Given the description of an element on the screen output the (x, y) to click on. 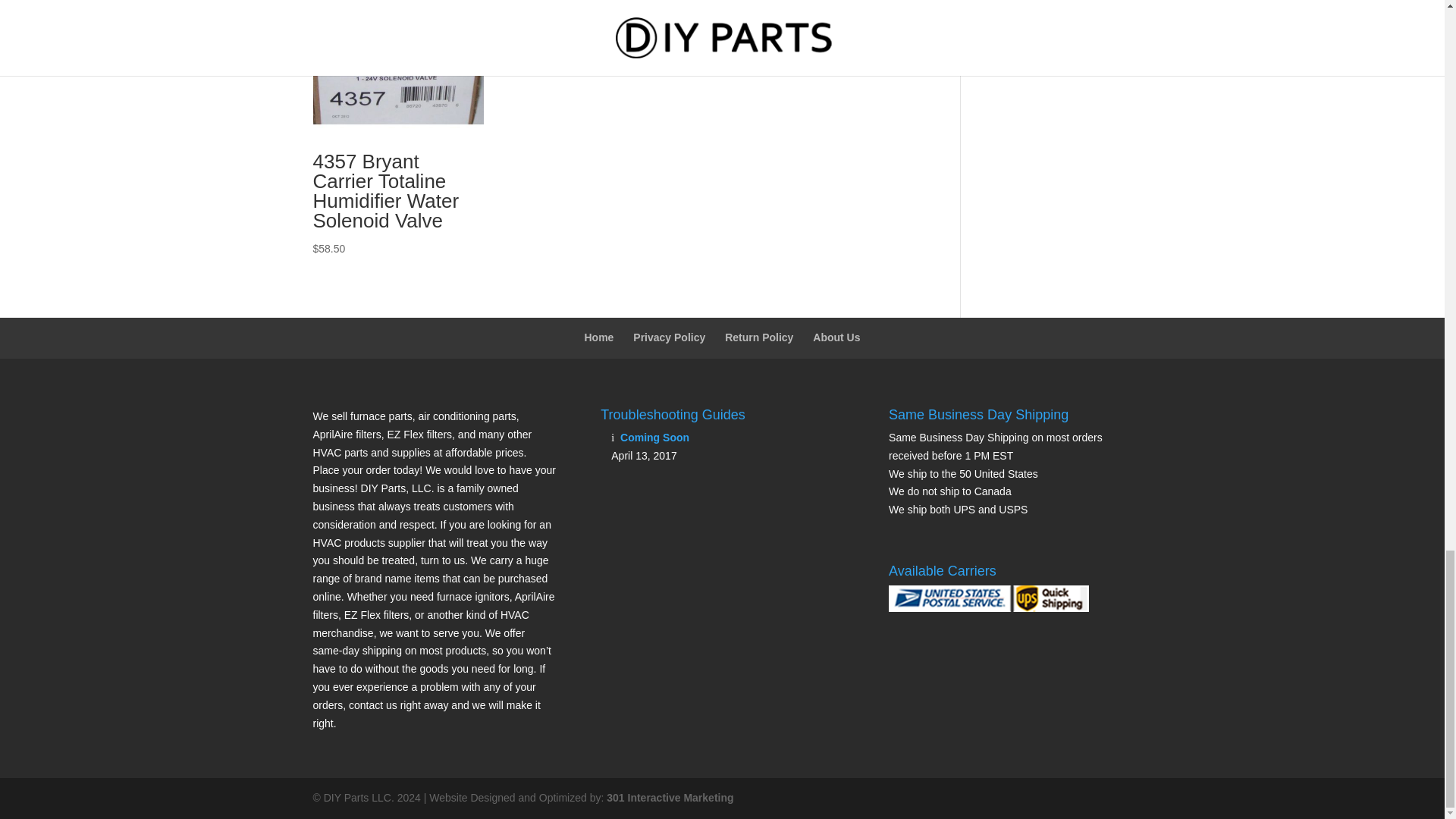
Privacy Policy (668, 337)
Home (597, 337)
Louisville Web Design (670, 797)
Return Policy (759, 337)
